Given the description of an element on the screen output the (x, y) to click on. 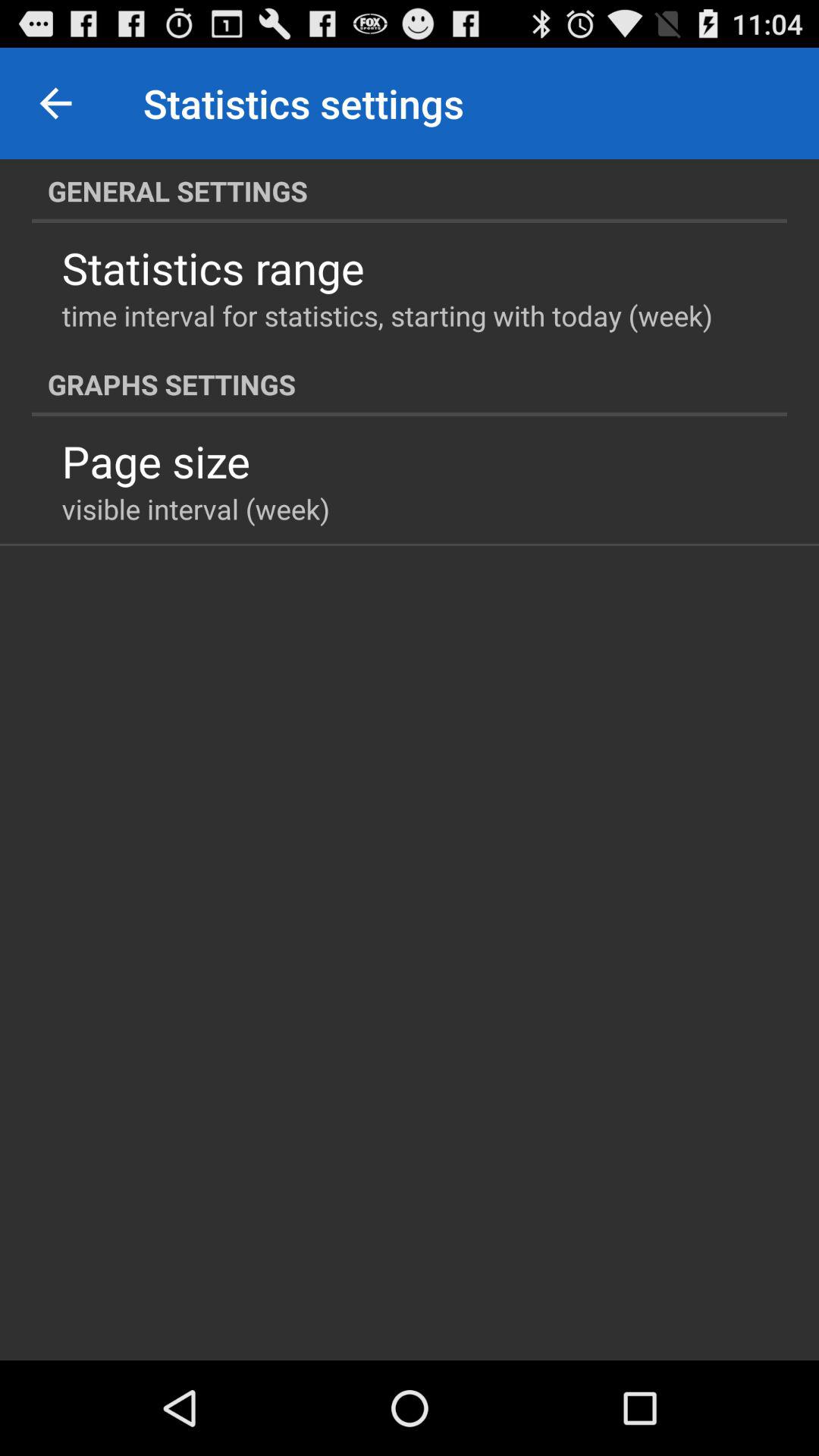
press the icon to the left of the statistics settings (55, 103)
